Given the description of an element on the screen output the (x, y) to click on. 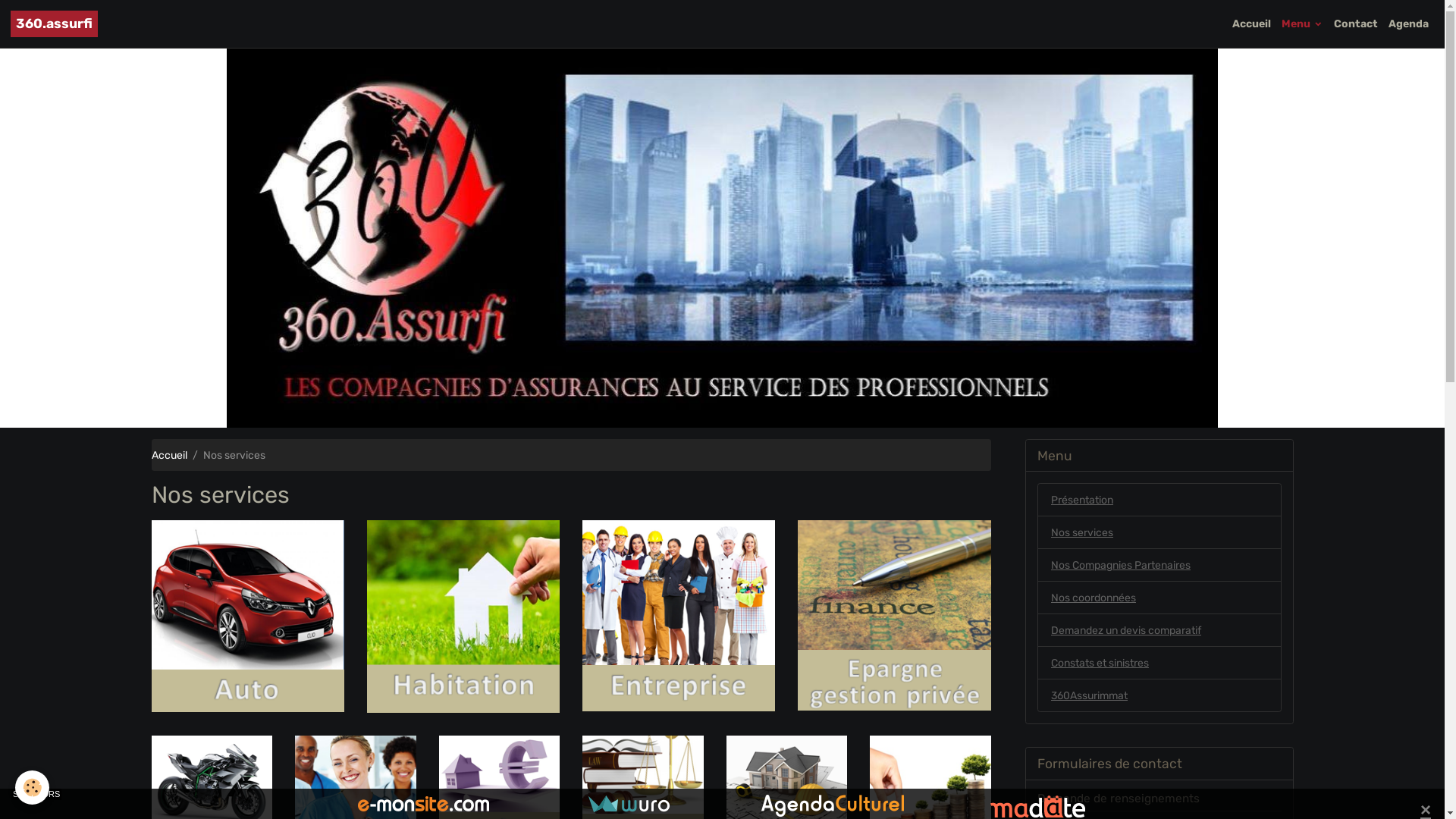
Accueil Element type: text (169, 454)
Agenda Culturel Element type: hover (832, 805)
Constats et sinistres Element type: text (1159, 662)
Demandez un devis comparatif Element type: text (1159, 629)
Madate Element type: hover (1036, 805)
Agenda Element type: text (1408, 23)
Accueil Element type: text (1251, 23)
Contact Element type: text (1355, 23)
Nos Compagnies Partenaires Element type: text (1159, 564)
Menu Element type: text (1302, 23)
Nos services Element type: text (1159, 532)
360.assurfi Element type: text (53, 23)
Demande de renseignements Element type: text (1118, 798)
360Assurimmat Element type: text (1159, 695)
